Given the description of an element on the screen output the (x, y) to click on. 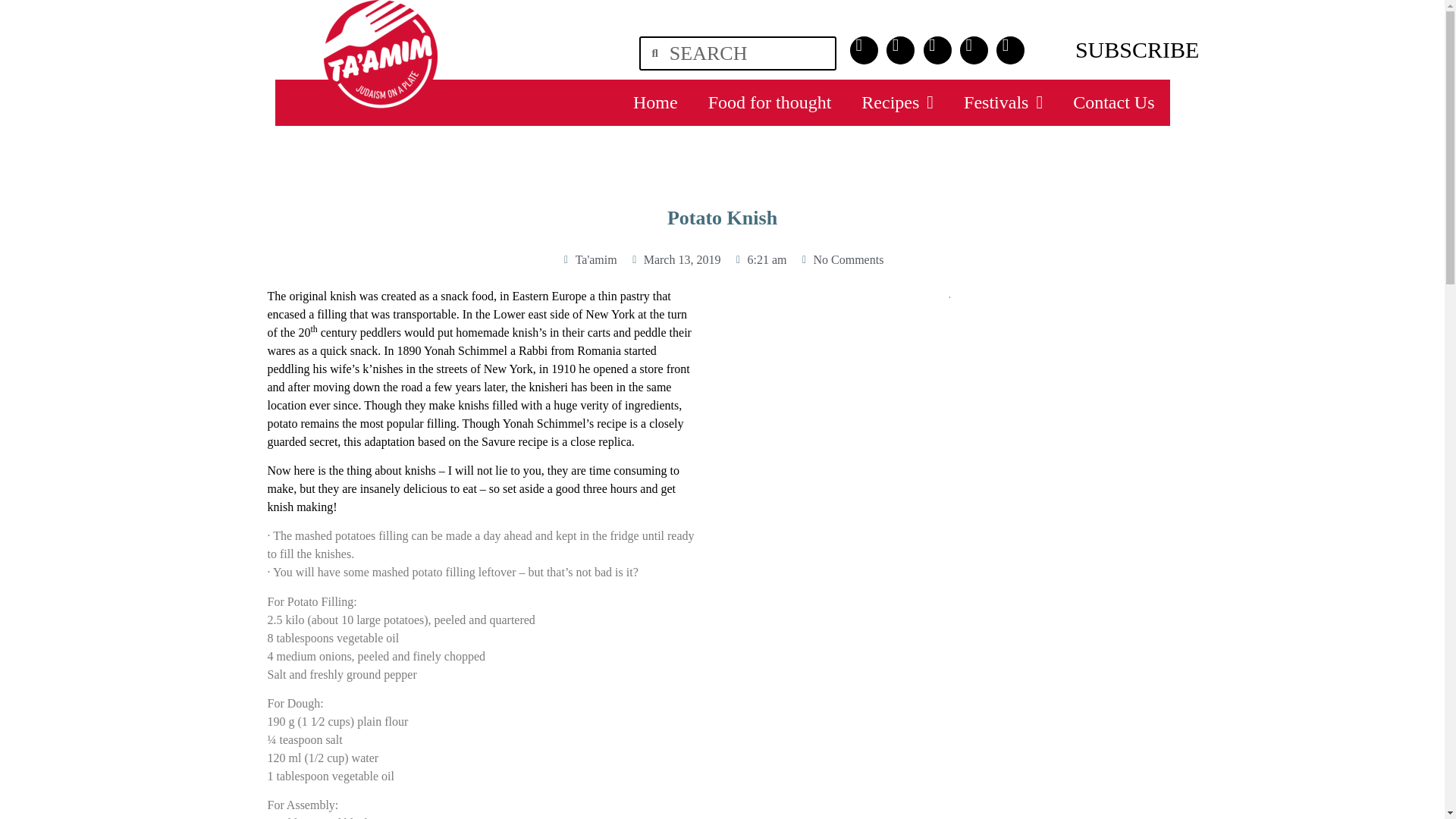
Contact Us (1113, 102)
Search (746, 52)
SUBSCRIBE (1136, 49)
Home (655, 102)
Food for thought (770, 102)
Recipes (897, 102)
Festivals (1003, 102)
